Given the description of an element on the screen output the (x, y) to click on. 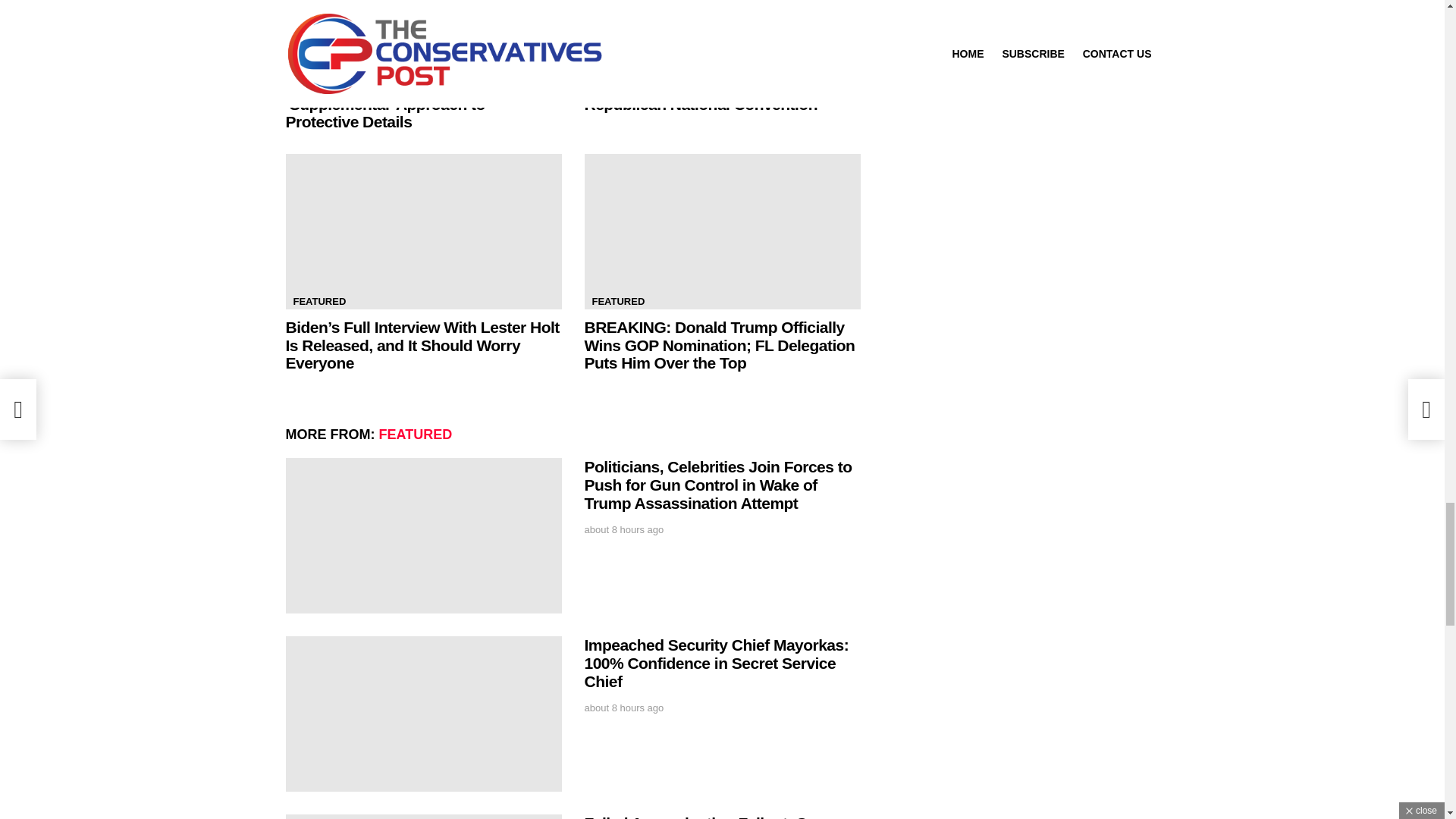
July 16, 2024, 3:00 pm (623, 530)
